Given the description of an element on the screen output the (x, y) to click on. 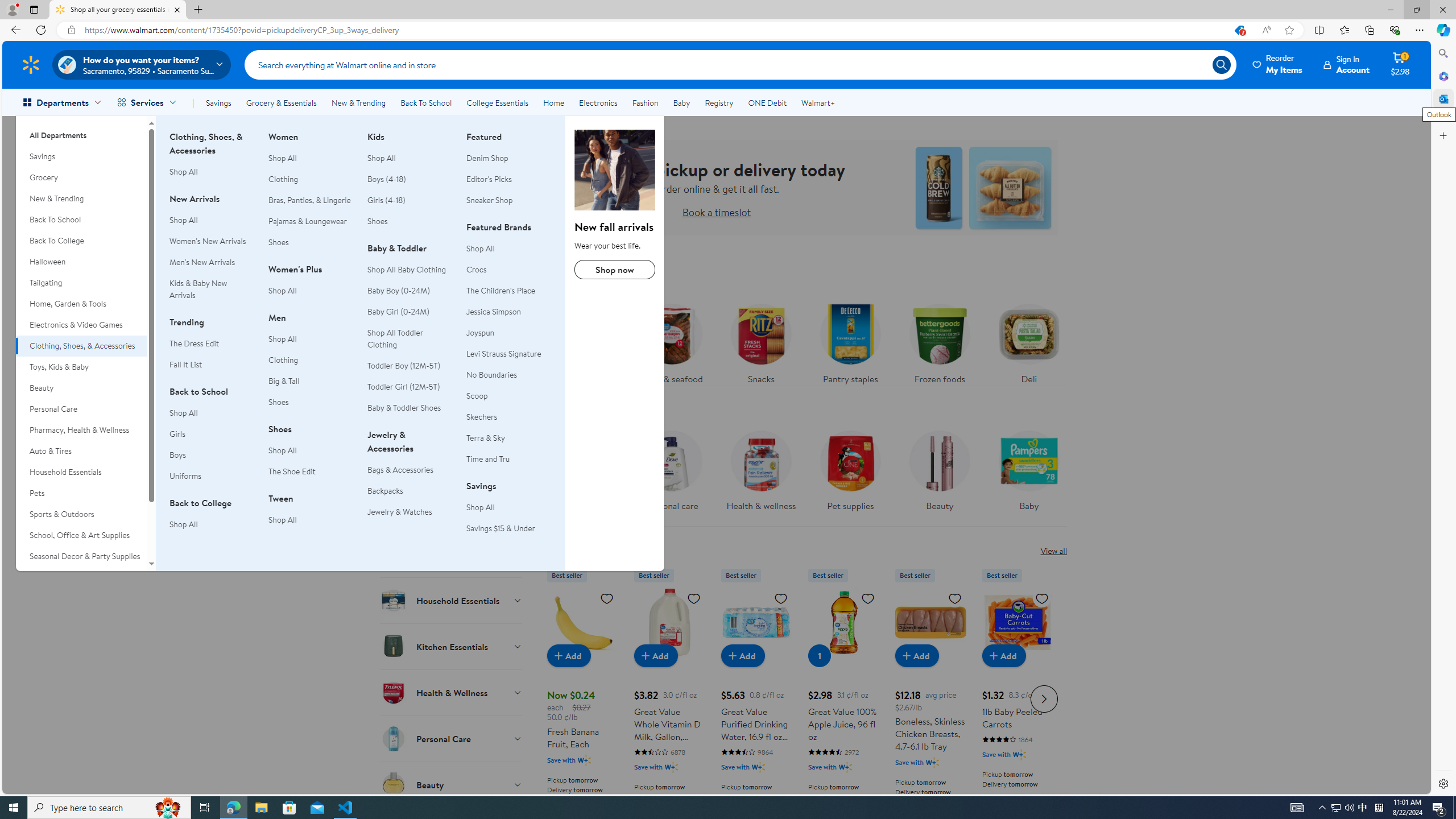
Bras, Panties, & Lingerie (310, 200)
This site has coupons! Shopping in Microsoft Edge, 7 (1239, 29)
SavingsShop AllSavings $15 & Under (508, 513)
Walmart+ (817, 102)
Skechers (481, 416)
Back To College (81, 240)
Toddler Boy (12M-5T) (403, 365)
Shop all your grocery essentials in one place! - Walmart.com (117, 9)
Terra & Sky (485, 437)
Snacks (761, 340)
Bags & Accessories (399, 469)
Savings $15 & Under (508, 528)
